Given the description of an element on the screen output the (x, y) to click on. 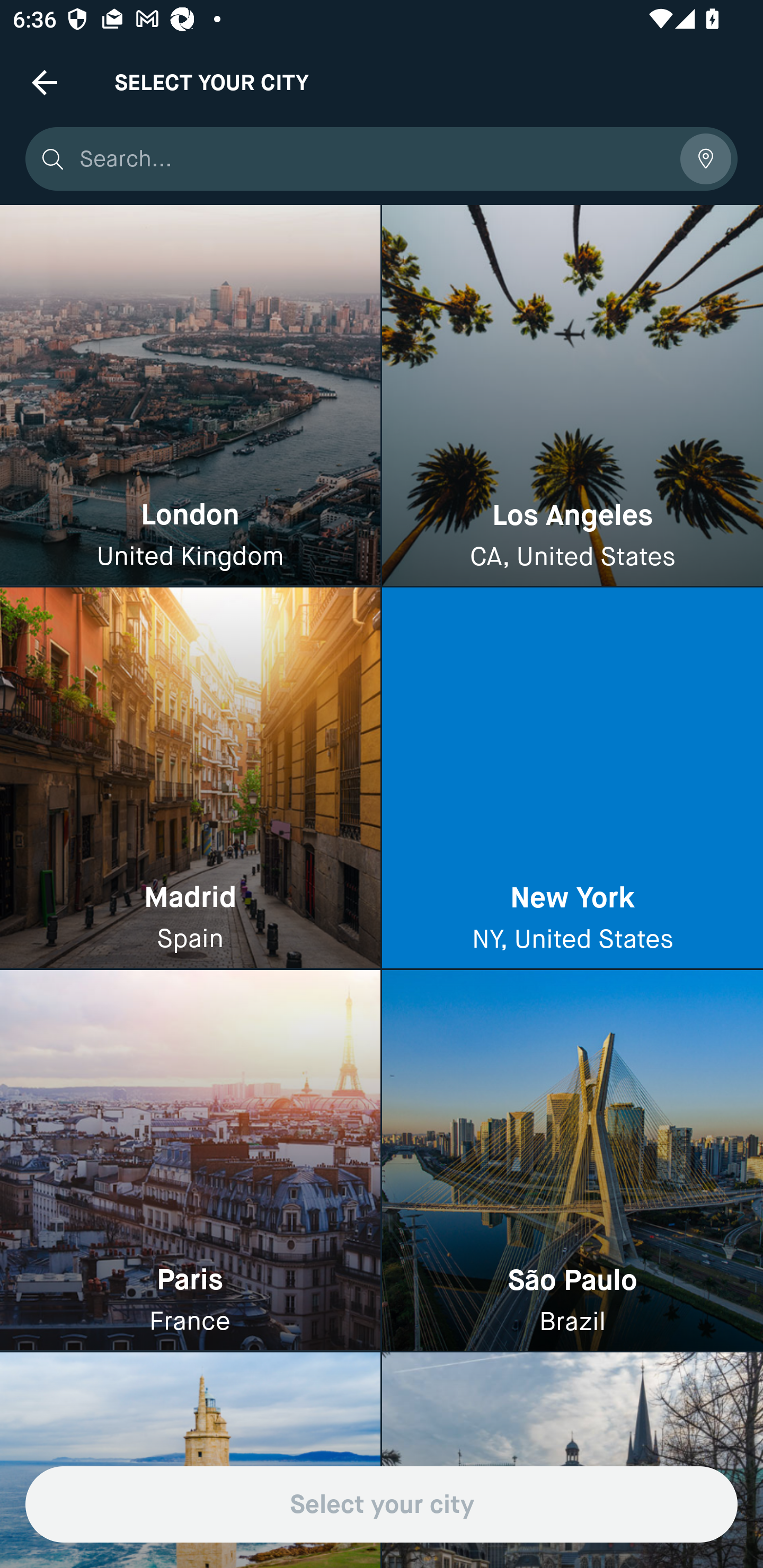
Navigate up (44, 82)
Search... (373, 159)
London United Kingdom (190, 395)
Los Angeles CA, United States (572, 395)
Madrid Spain (190, 778)
New York NY, United States (572, 778)
Paris France (190, 1160)
São Paulo Brazil (572, 1160)
Select your city (381, 1504)
